Given the description of an element on the screen output the (x, y) to click on. 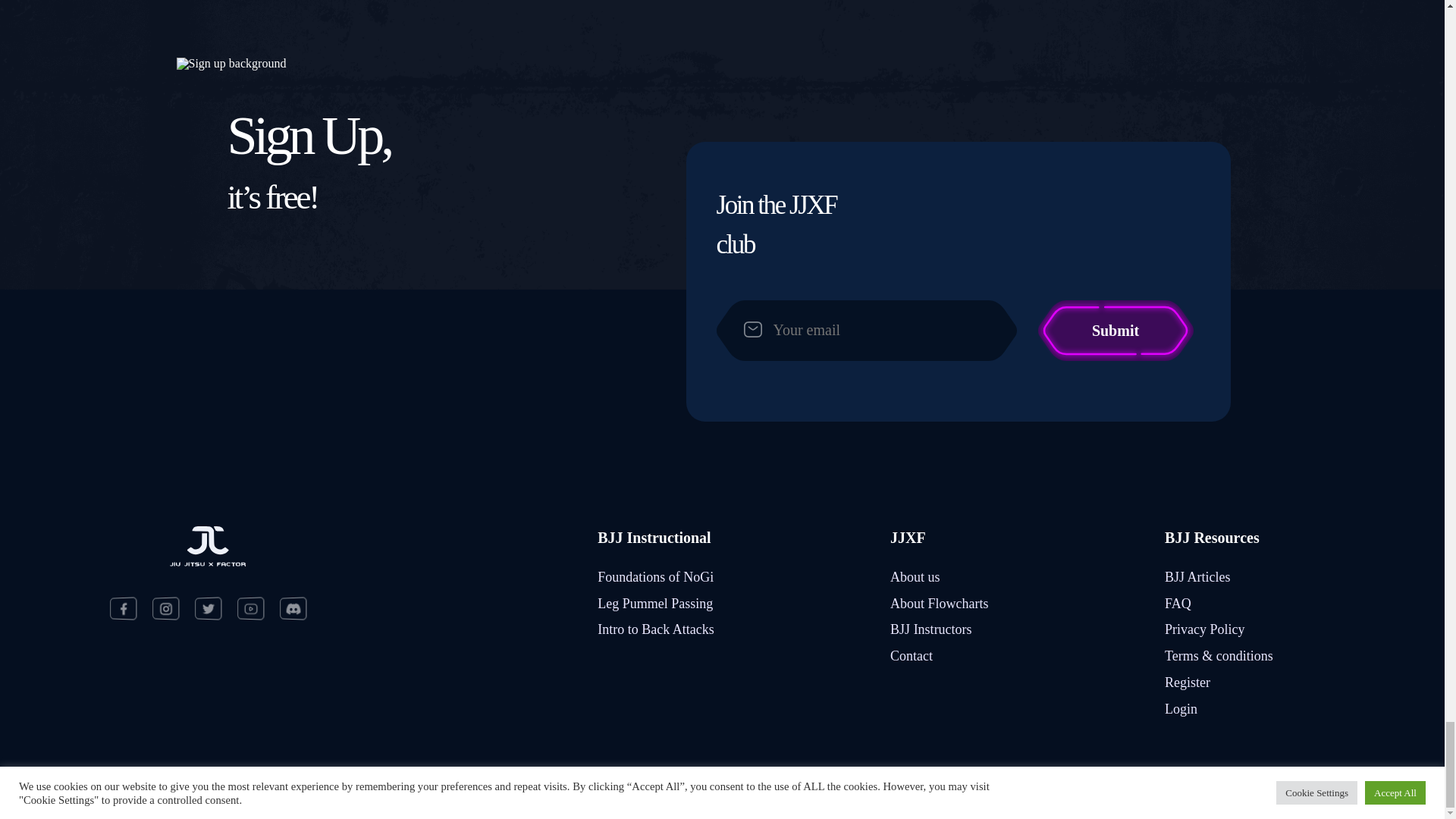
Intro to Back Attacks (654, 629)
Privacy Policy (1204, 629)
Leg Pummel Passing (654, 603)
BJJ Articles (1197, 576)
About Flowcharts (938, 603)
BJJ Instructors (930, 629)
Contact (911, 655)
Submit (1114, 330)
Foundations of NoGi (654, 576)
Register (1186, 682)
